Given the description of an element on the screen output the (x, y) to click on. 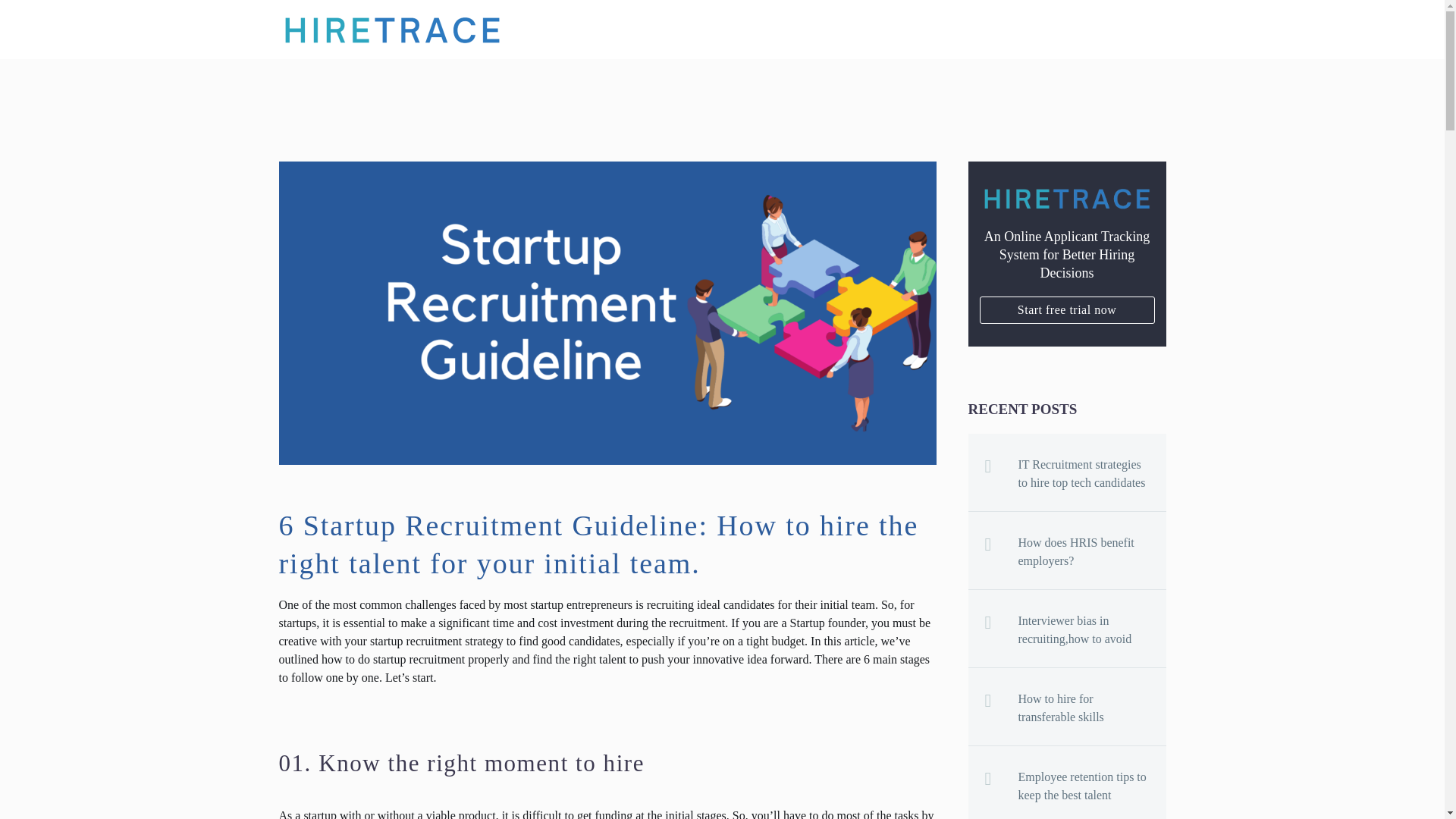
Start free trial now (1066, 309)
How to hire for transferable skills (1091, 704)
Employee retention tips to keep the best talent (1091, 782)
Start free trial now (1066, 309)
Start free trial now (1066, 309)
IT Recruitment strategies to hire top tech candidates (1091, 470)
Interviewer bias in recruiting,how to avoid (1091, 626)
How does HRIS benefit employers? (1091, 548)
